Given the description of an element on the screen output the (x, y) to click on. 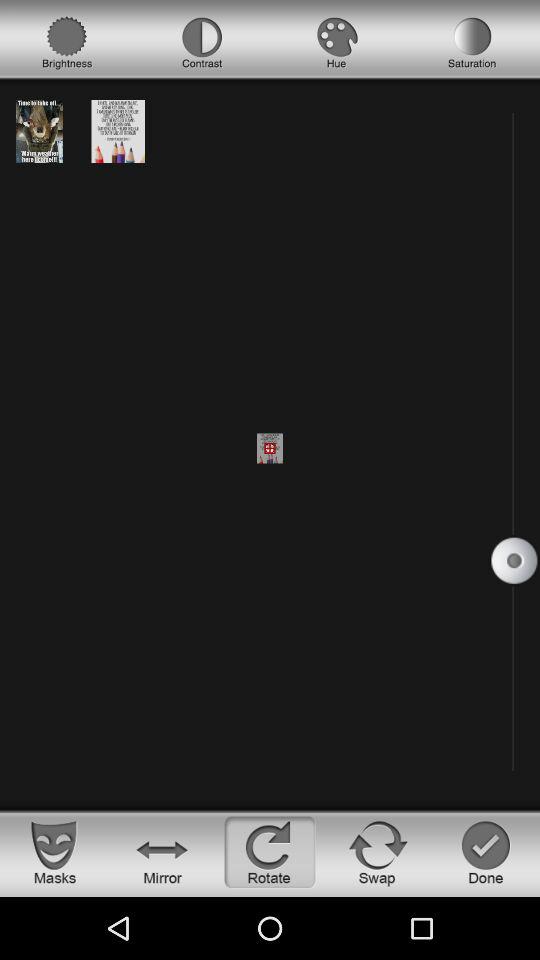
select a option brightness which is on the top right corner of page (67, 43)
select the rotate icon which is in the bottom middle of the screen (269, 852)
click on contrast (202, 43)
go to done (485, 852)
click on saturation (472, 43)
click on the swap option (377, 852)
